Given the description of an element on the screen output the (x, y) to click on. 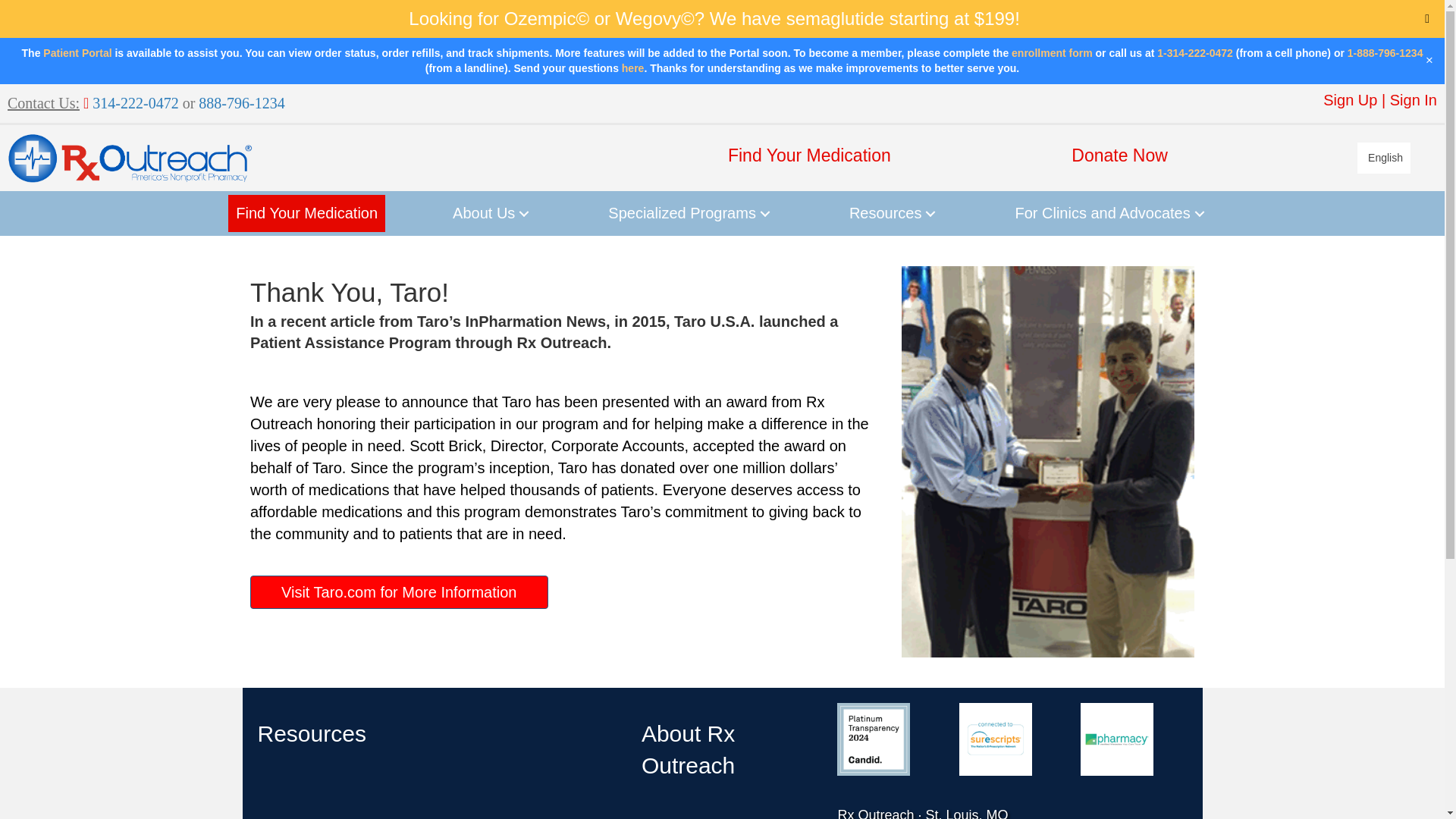
314-222-0472 (132, 103)
here (633, 68)
Find Your Medication (809, 155)
Find Your Medication (306, 212)
English (1383, 157)
Pharmacy-Edited-2 (1116, 738)
Specialized Programs (690, 212)
RXO-Logo-RGB-color-12.21-small-removebg-preview (129, 158)
enrollment form (1052, 52)
For Clinics and Advocates (1111, 212)
888-796-1234 (239, 103)
Donate Now (1091, 155)
1-888-796-1234 (1385, 52)
About Us (492, 212)
Resources (894, 212)
